Given the description of an element on the screen output the (x, y) to click on. 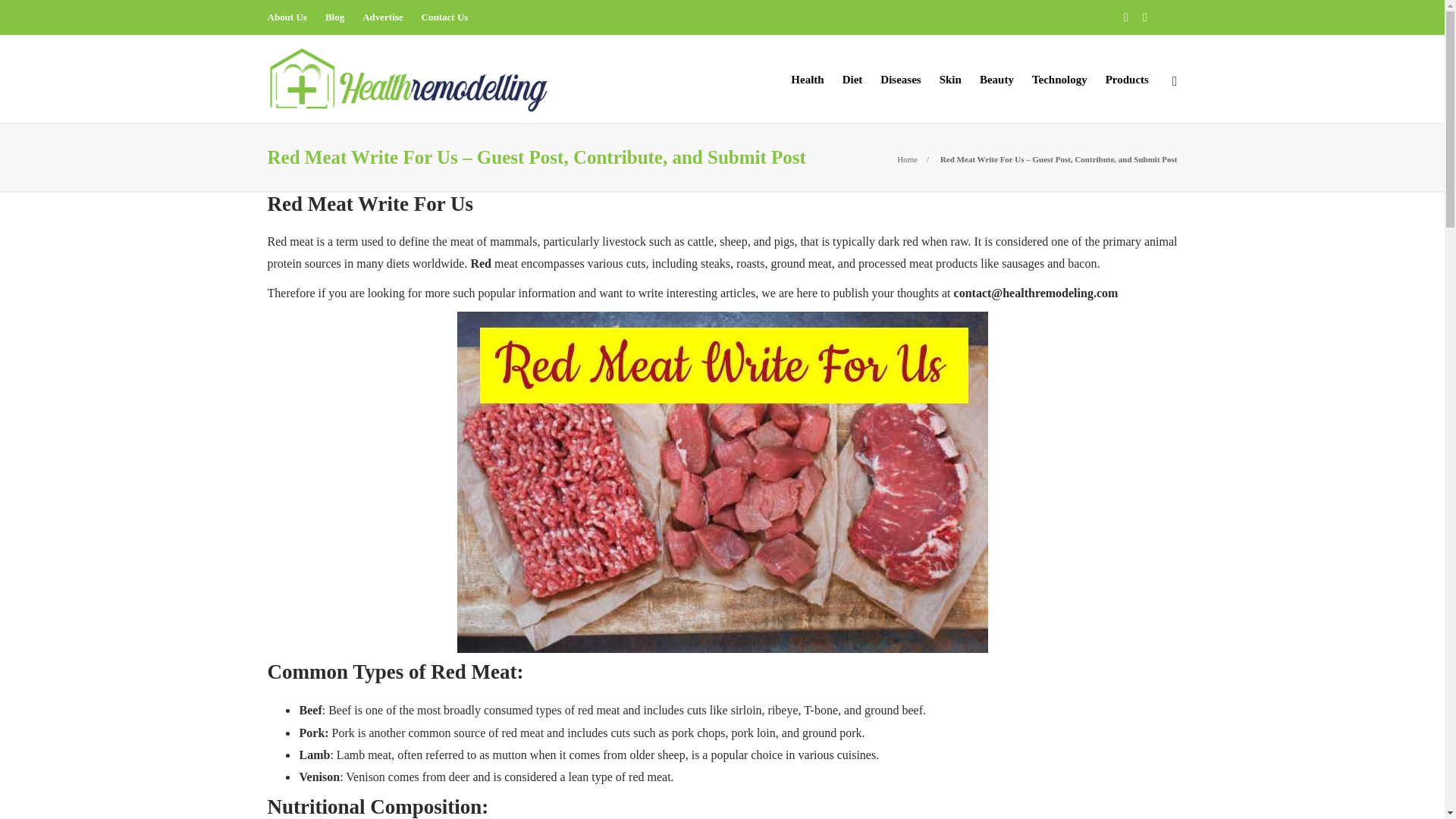
About Us (285, 17)
Advertise (382, 17)
Contact Us (445, 17)
Home (906, 158)
diets (398, 263)
Technology (1059, 78)
Home (906, 158)
